Given the description of an element on the screen output the (x, y) to click on. 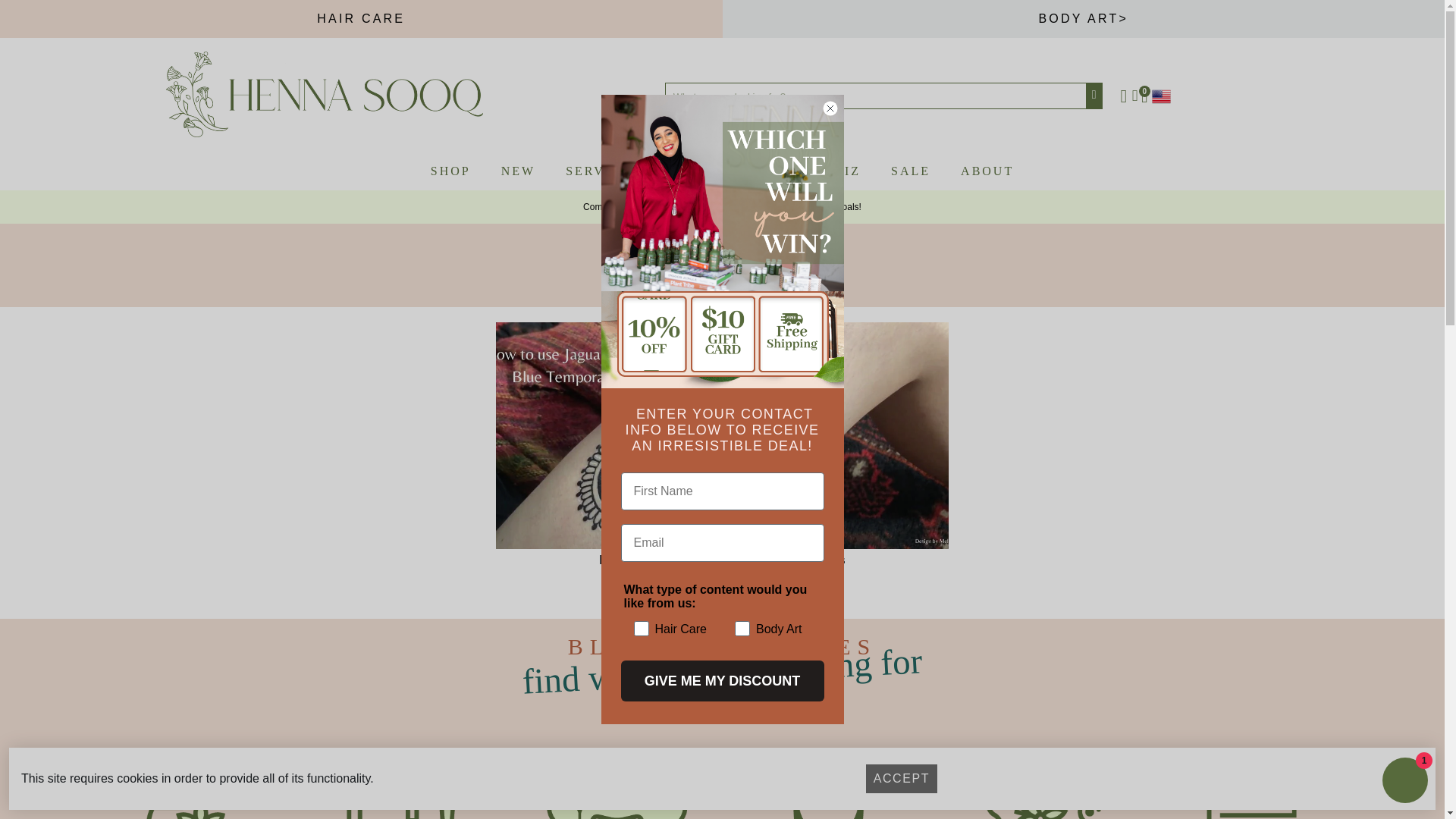
SERVICES (602, 171)
ARTIST QUIZ (811, 171)
SALE (910, 171)
NEW (518, 171)
Close dialog 2 (829, 108)
ARTIST QUIZ (811, 171)
ABOUT (986, 171)
SHOP (450, 171)
HOW TO (700, 171)
HAIR CARE (360, 18)
HOW TO (700, 171)
BODY ART (1083, 18)
NEW (518, 171)
SERVICES (602, 171)
ABOUT (986, 171)
